Given the description of an element on the screen output the (x, y) to click on. 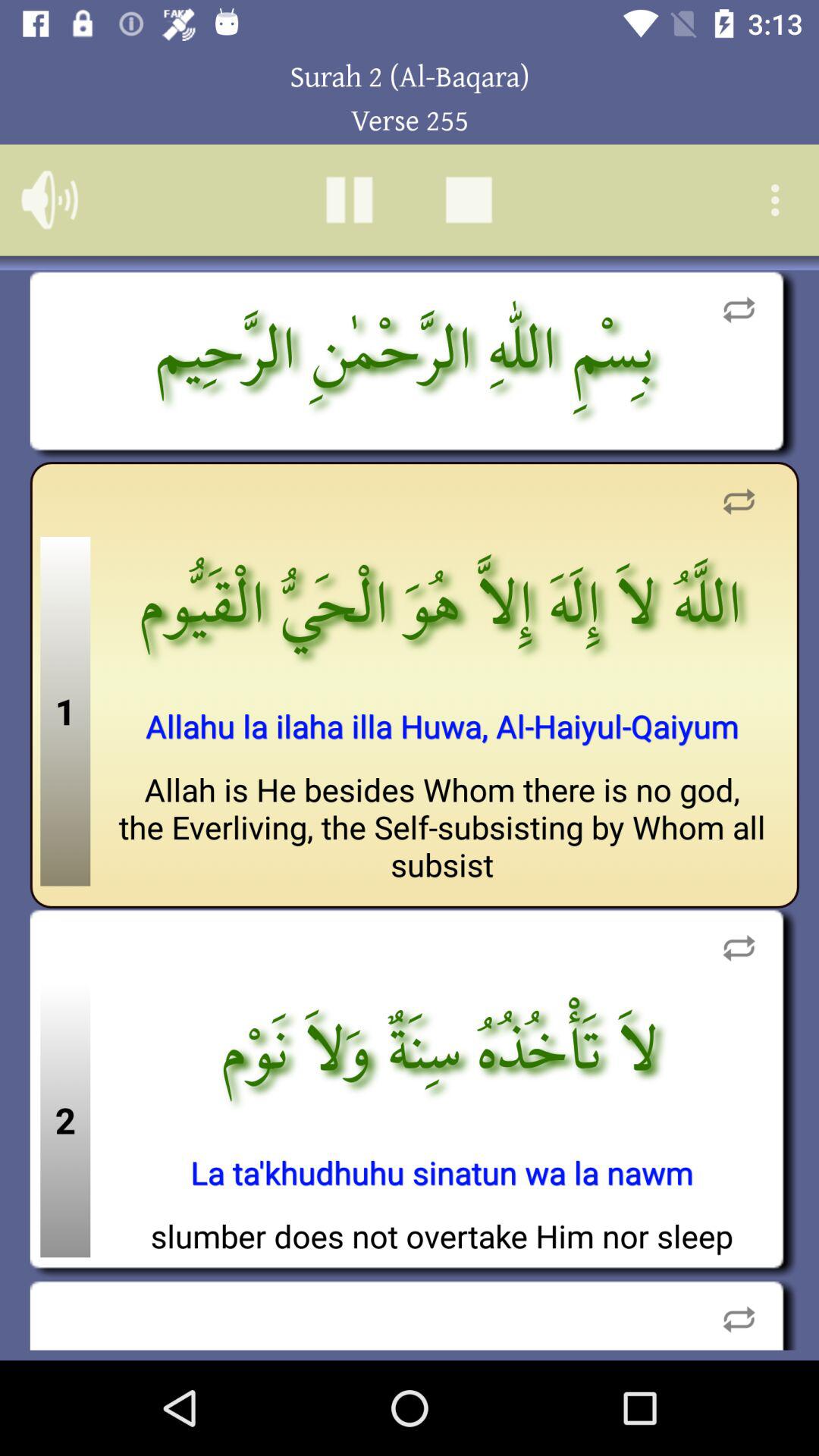
speaker button it could be loud speaker or mute button (49, 199)
